Given the description of an element on the screen output the (x, y) to click on. 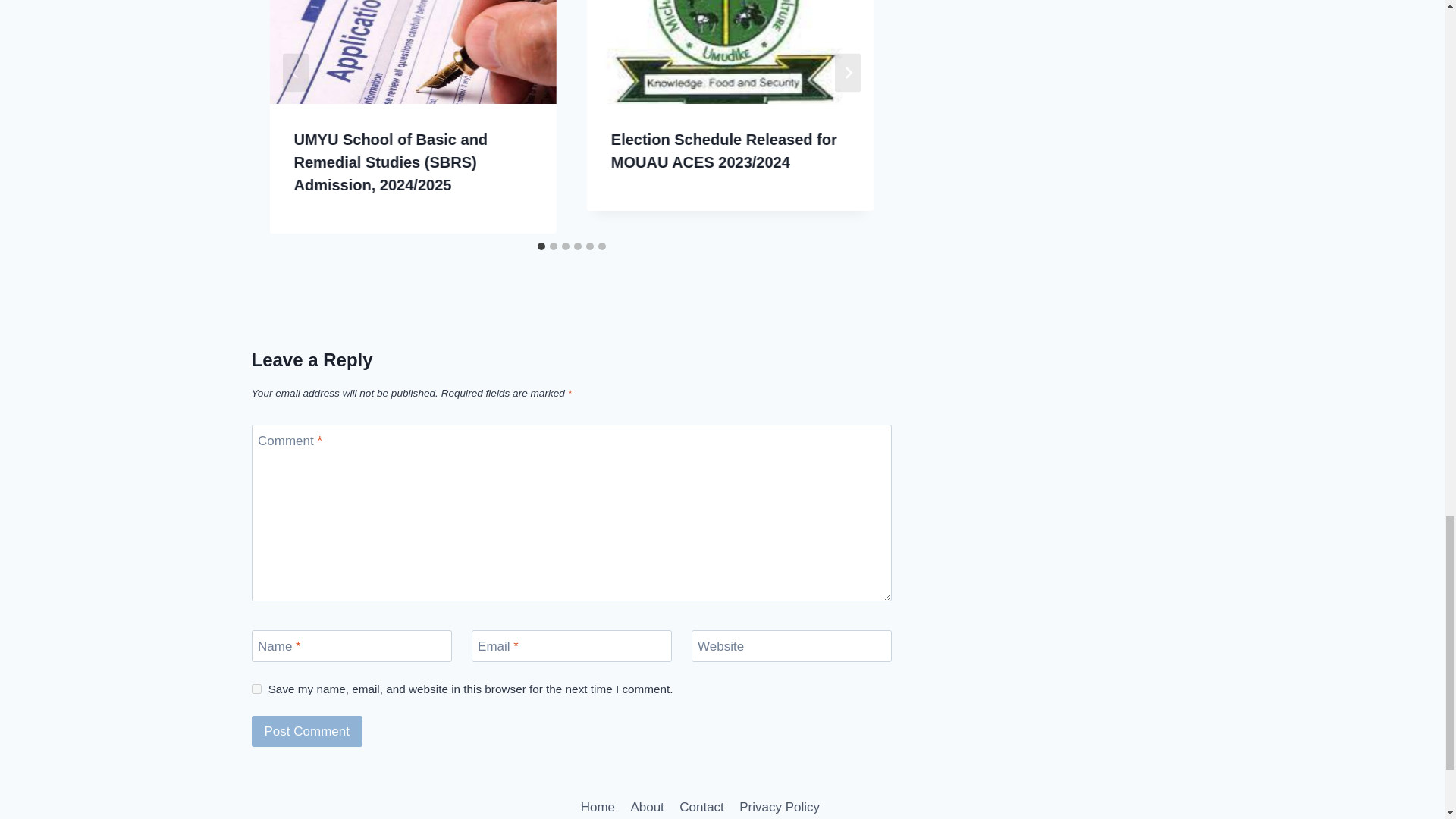
yes (256, 688)
Post Comment (306, 730)
